Given the description of an element on the screen output the (x, y) to click on. 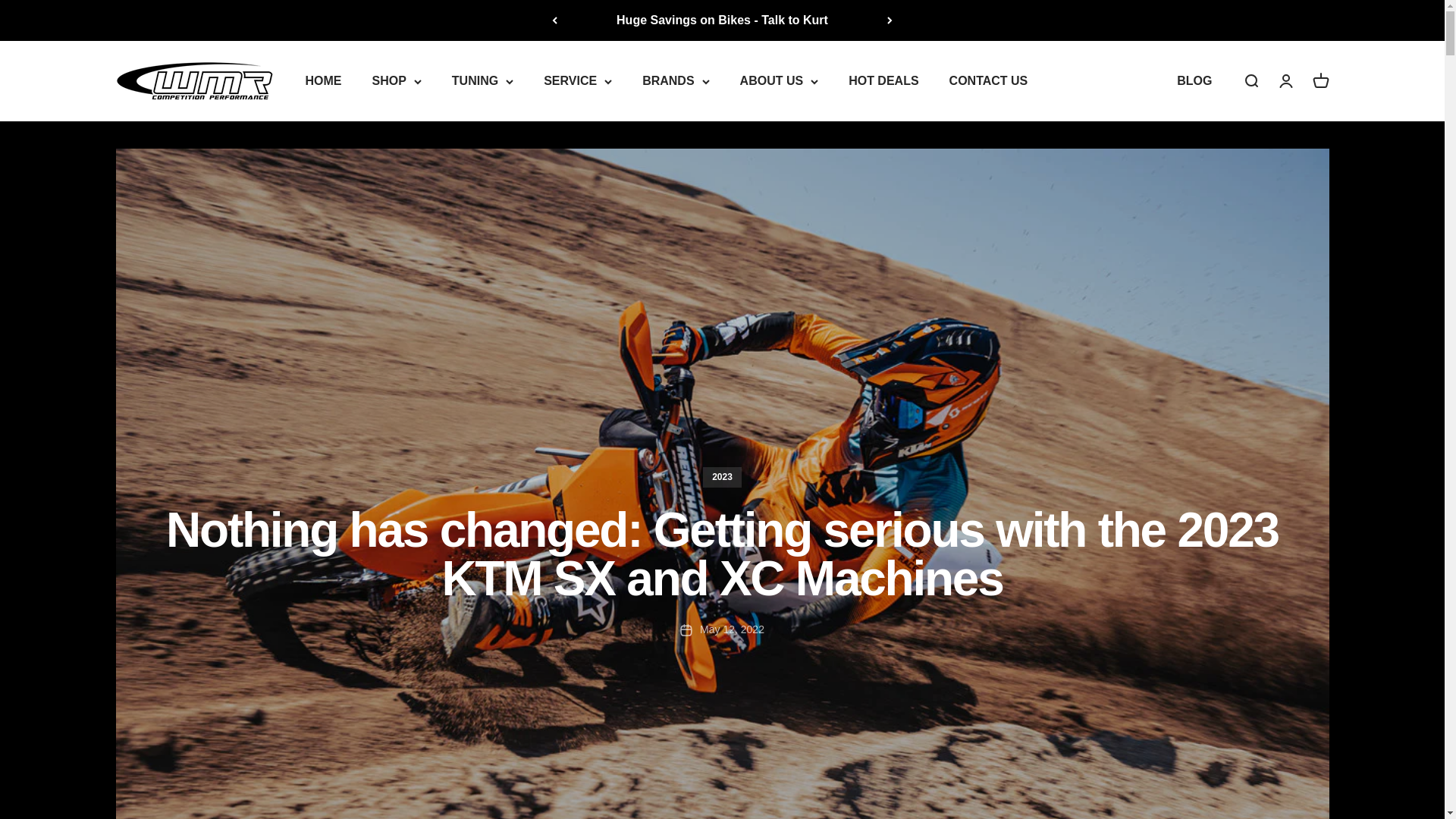
Huge Savings on Bikes - Talk to Kurt (721, 19)
HOME (322, 80)
